Given the description of an element on the screen output the (x, y) to click on. 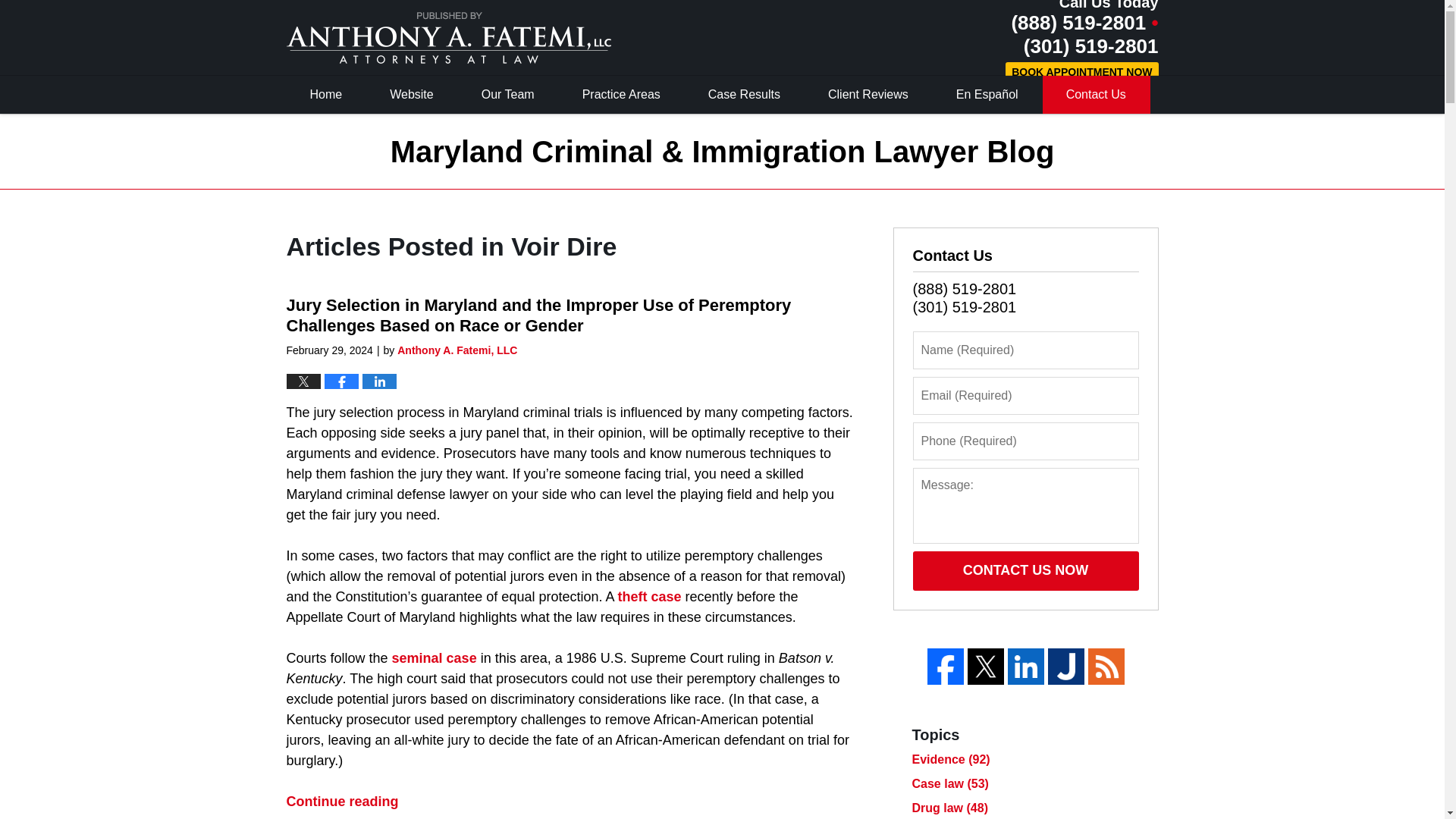
Website (412, 94)
Continue reading (342, 801)
theft case (649, 596)
Contact Us (1096, 94)
Client Reviews (869, 94)
Our Team (508, 94)
BOOK APPOINTMENT NOW (1081, 72)
Case Results (744, 94)
Home (326, 94)
seminal case (434, 657)
Practice Areas (621, 94)
Anthony A. Fatemi, LLC (456, 349)
